Given the description of an element on the screen output the (x, y) to click on. 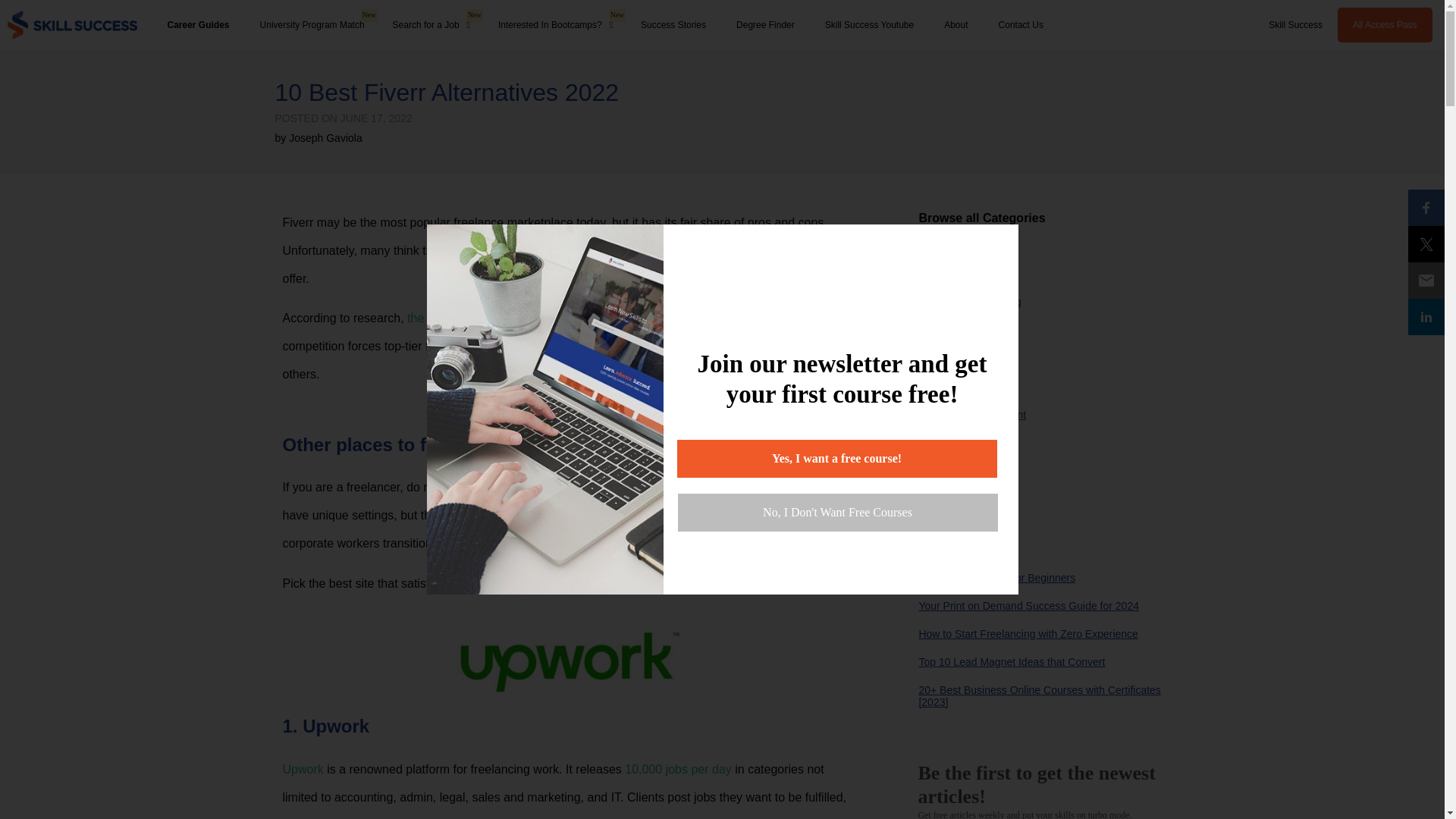
Interested In Bootcamps? (555, 24)
Career Guides (197, 24)
Skill Success Youtube (868, 24)
Contact Us (1021, 24)
Success Stories (673, 24)
University Program Match (312, 24)
All Access Pass (1385, 24)
Degree Finder (764, 24)
Skill Success (1295, 24)
Search for a Job (430, 24)
About (955, 24)
